Given the description of an element on the screen output the (x, y) to click on. 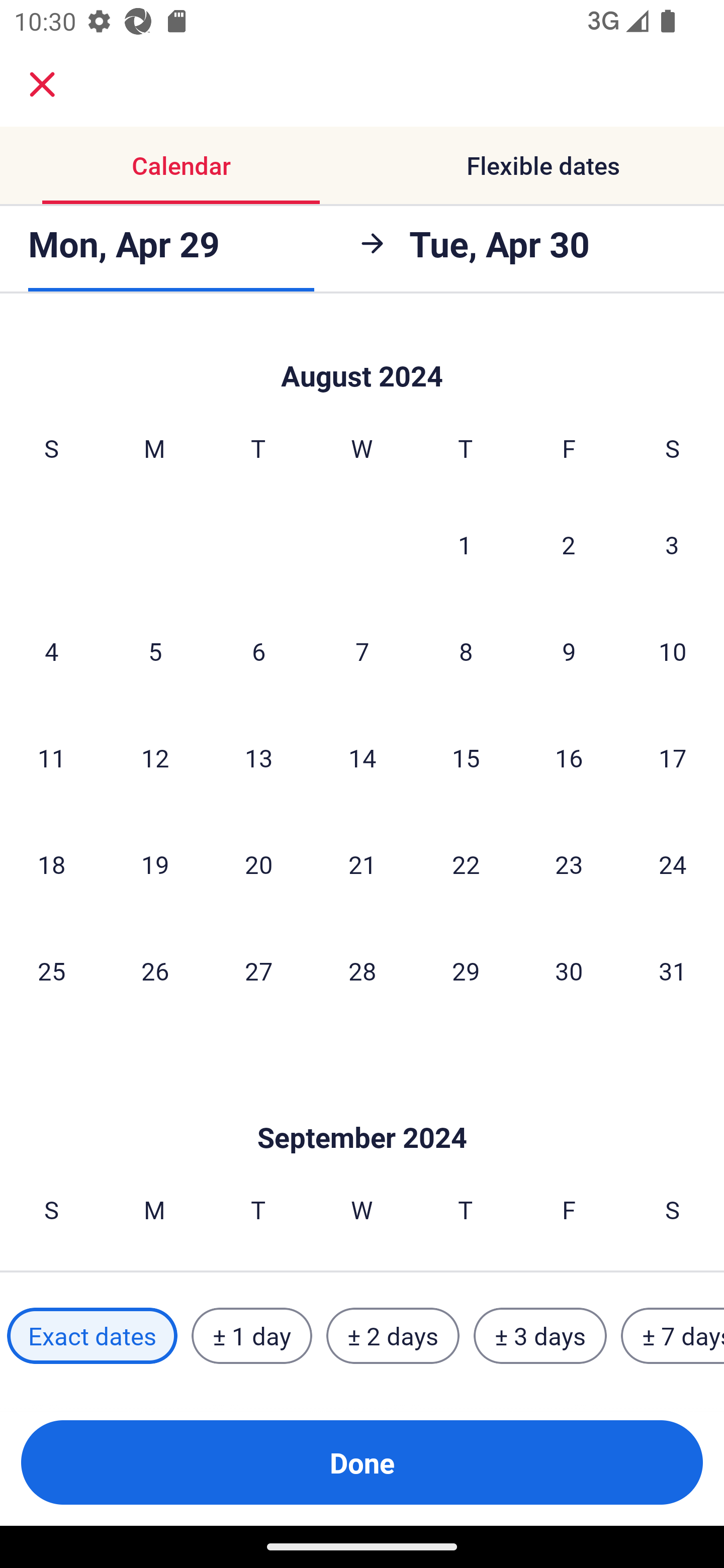
close. (42, 84)
Flexible dates (542, 164)
Skip to Done (362, 354)
1 Thursday, August 1, 2024 (464, 543)
2 Friday, August 2, 2024 (568, 543)
3 Saturday, August 3, 2024 (672, 543)
4 Sunday, August 4, 2024 (51, 650)
5 Monday, August 5, 2024 (155, 650)
6 Tuesday, August 6, 2024 (258, 650)
7 Wednesday, August 7, 2024 (362, 650)
8 Thursday, August 8, 2024 (465, 650)
9 Friday, August 9, 2024 (569, 650)
10 Saturday, August 10, 2024 (672, 650)
11 Sunday, August 11, 2024 (51, 757)
12 Monday, August 12, 2024 (155, 757)
13 Tuesday, August 13, 2024 (258, 757)
14 Wednesday, August 14, 2024 (362, 757)
15 Thursday, August 15, 2024 (465, 757)
16 Friday, August 16, 2024 (569, 757)
17 Saturday, August 17, 2024 (672, 757)
18 Sunday, August 18, 2024 (51, 863)
19 Monday, August 19, 2024 (155, 863)
20 Tuesday, August 20, 2024 (258, 863)
21 Wednesday, August 21, 2024 (362, 863)
22 Thursday, August 22, 2024 (465, 863)
23 Friday, August 23, 2024 (569, 863)
24 Saturday, August 24, 2024 (672, 863)
25 Sunday, August 25, 2024 (51, 970)
26 Monday, August 26, 2024 (155, 970)
27 Tuesday, August 27, 2024 (258, 970)
28 Wednesday, August 28, 2024 (362, 970)
29 Thursday, August 29, 2024 (465, 970)
30 Friday, August 30, 2024 (569, 970)
31 Saturday, August 31, 2024 (672, 970)
Skip to Done (362, 1106)
Exact dates (92, 1335)
± 1 day (251, 1335)
± 2 days (392, 1335)
± 3 days (539, 1335)
± 7 days (672, 1335)
Done (361, 1462)
